Given the description of an element on the screen output the (x, y) to click on. 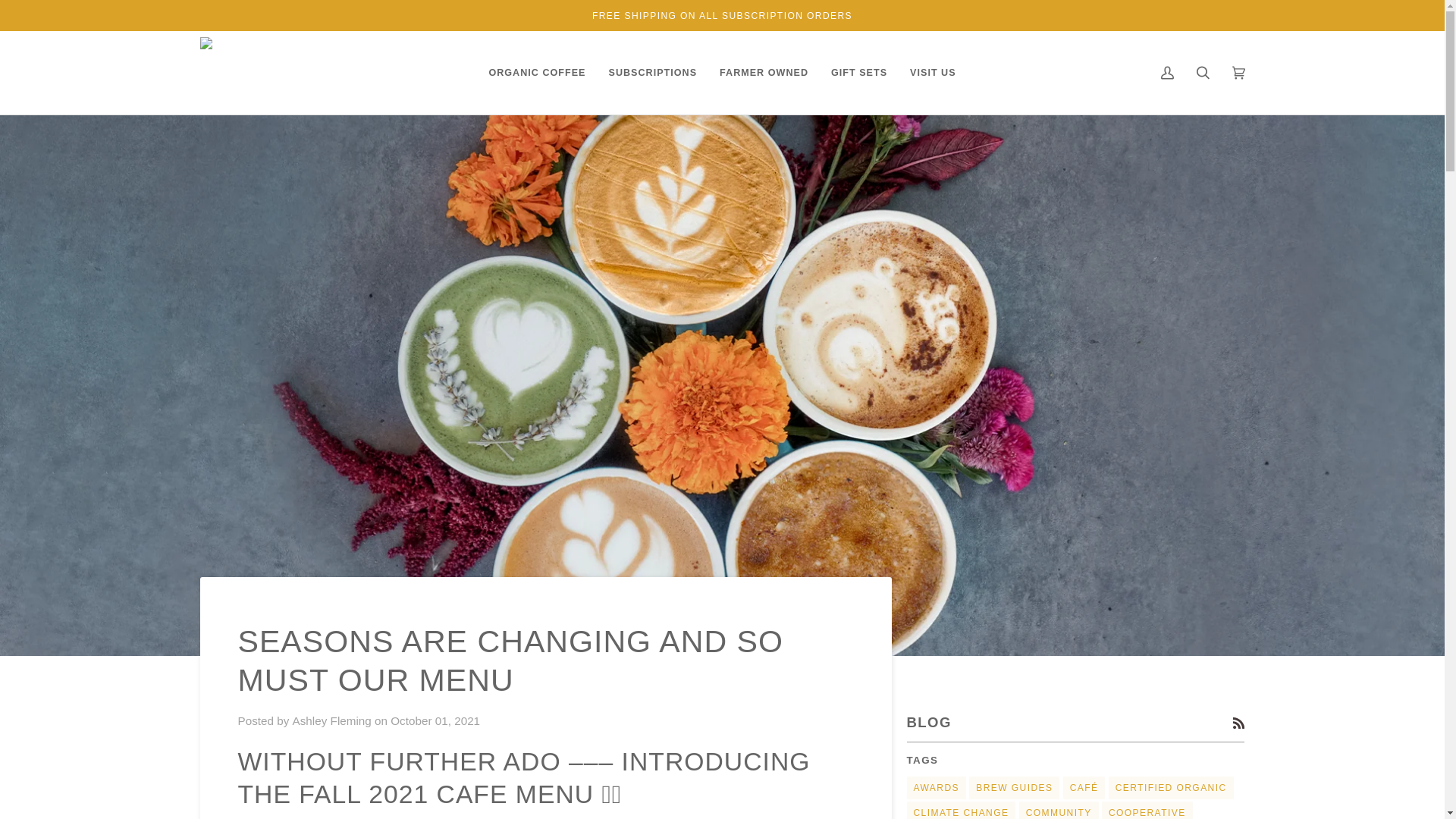
SUBSCRIPTIONS (651, 72)
GIFT SETS (858, 72)
FARMER OWNED (763, 72)
ORGANIC COFFEE (536, 72)
